Given the description of an element on the screen output the (x, y) to click on. 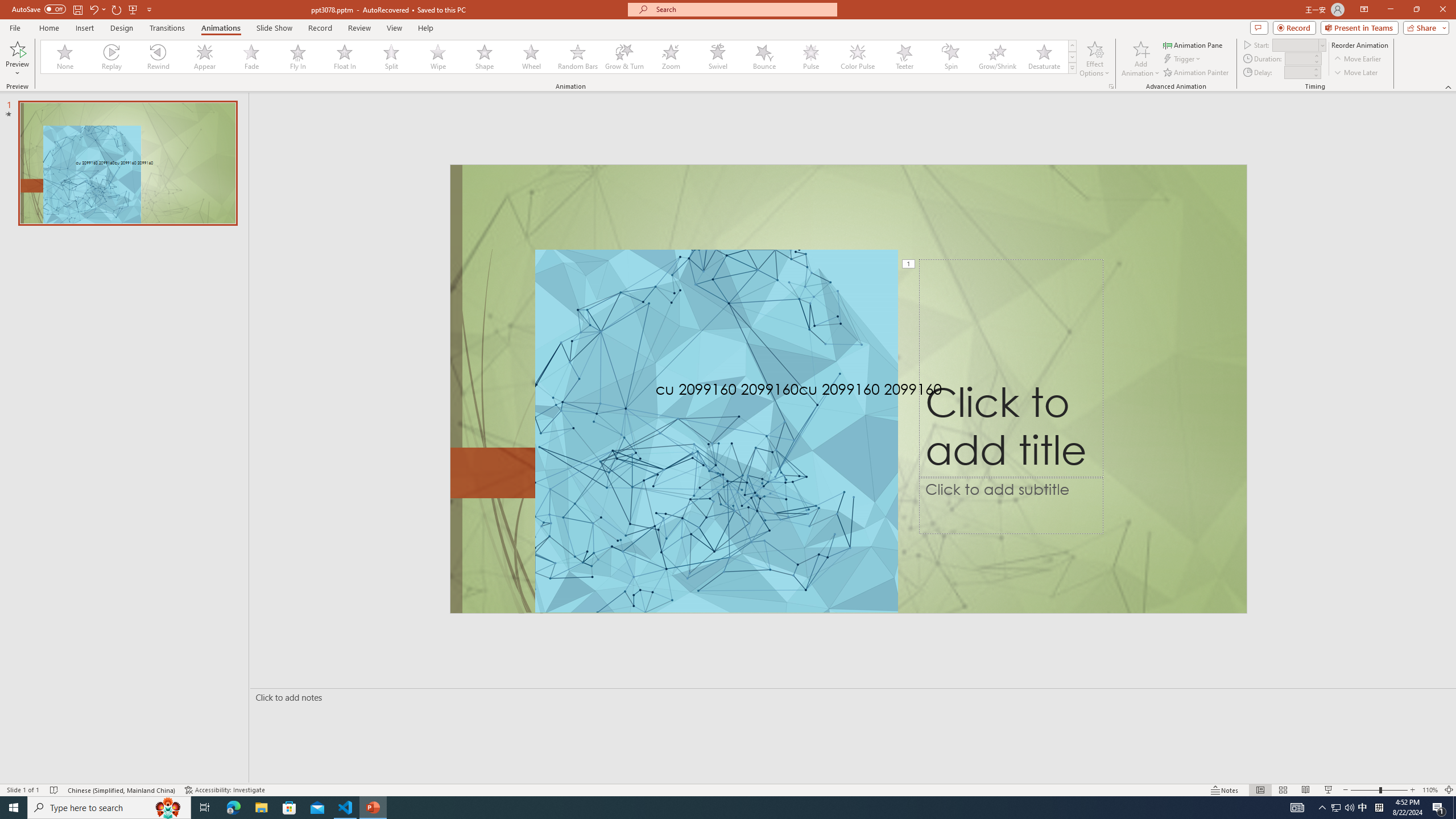
Add Animation (1141, 58)
Pulse (810, 56)
Zoom 110% (1430, 790)
Swivel (717, 56)
Fly In (298, 56)
